Given the description of an element on the screen output the (x, y) to click on. 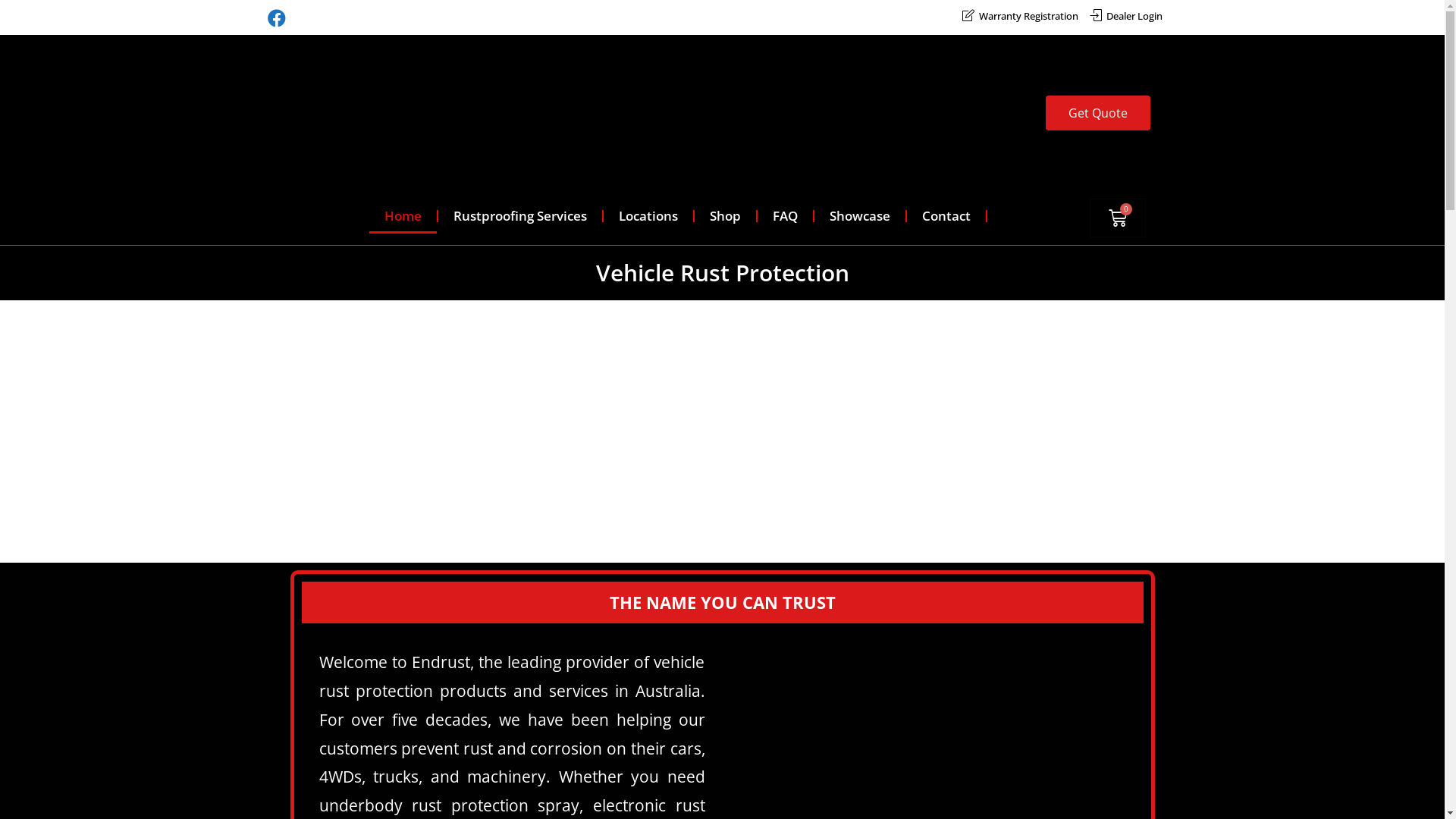
FAQ Element type: text (784, 215)
Warranty Registration Element type: text (1019, 16)
Locations Element type: text (648, 215)
Shop Element type: text (725, 215)
Contact Element type: text (945, 215)
0 Element type: text (1116, 217)
Rustproofing Services Element type: text (520, 215)
Dealer Login Element type: text (1124, 16)
Get Quote Element type: text (1097, 112)
Showcase Element type: text (859, 215)
Home Element type: text (402, 215)
